Given the description of an element on the screen output the (x, y) to click on. 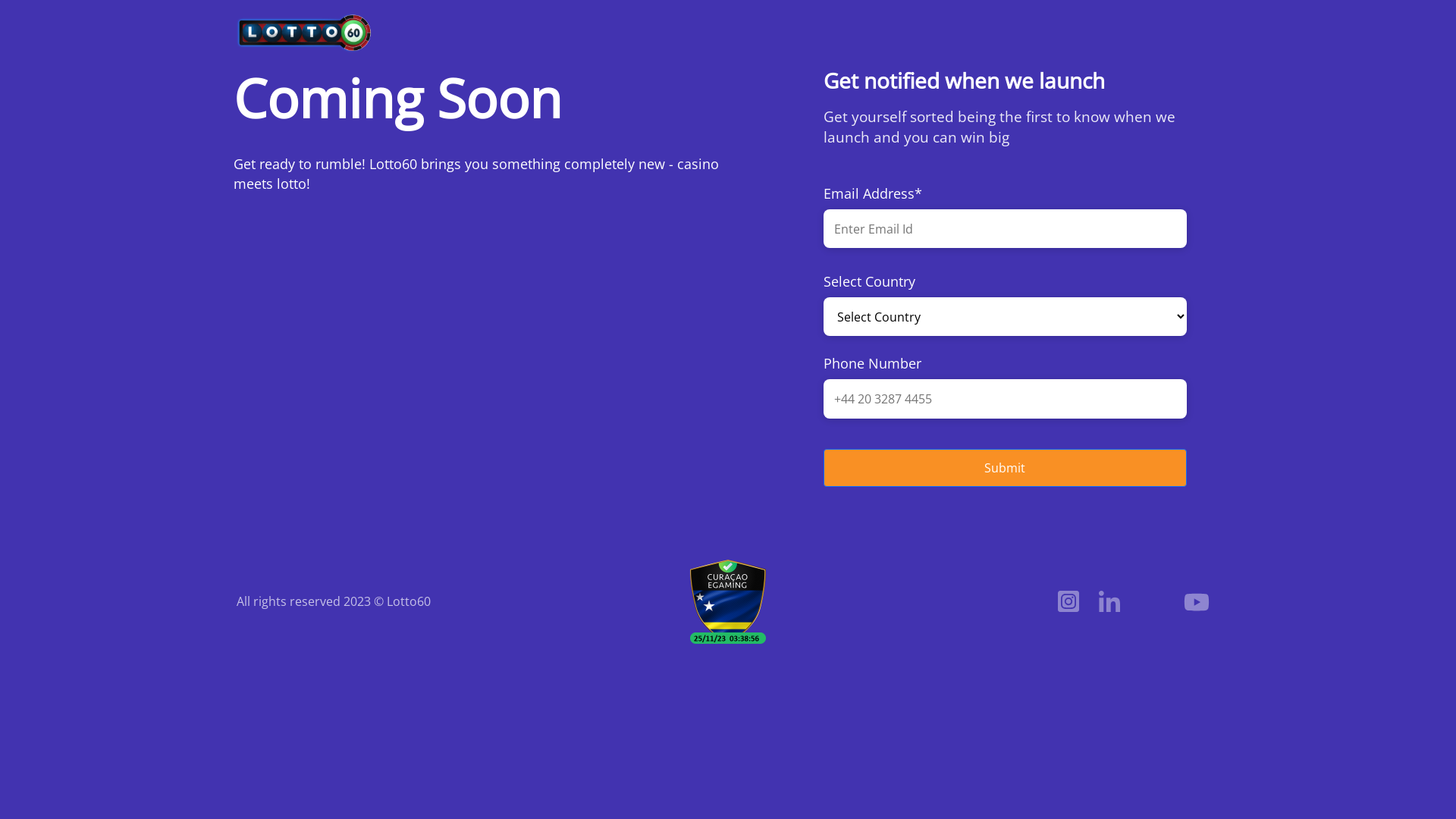
Submit Element type: text (1004, 444)
